Given the description of an element on the screen output the (x, y) to click on. 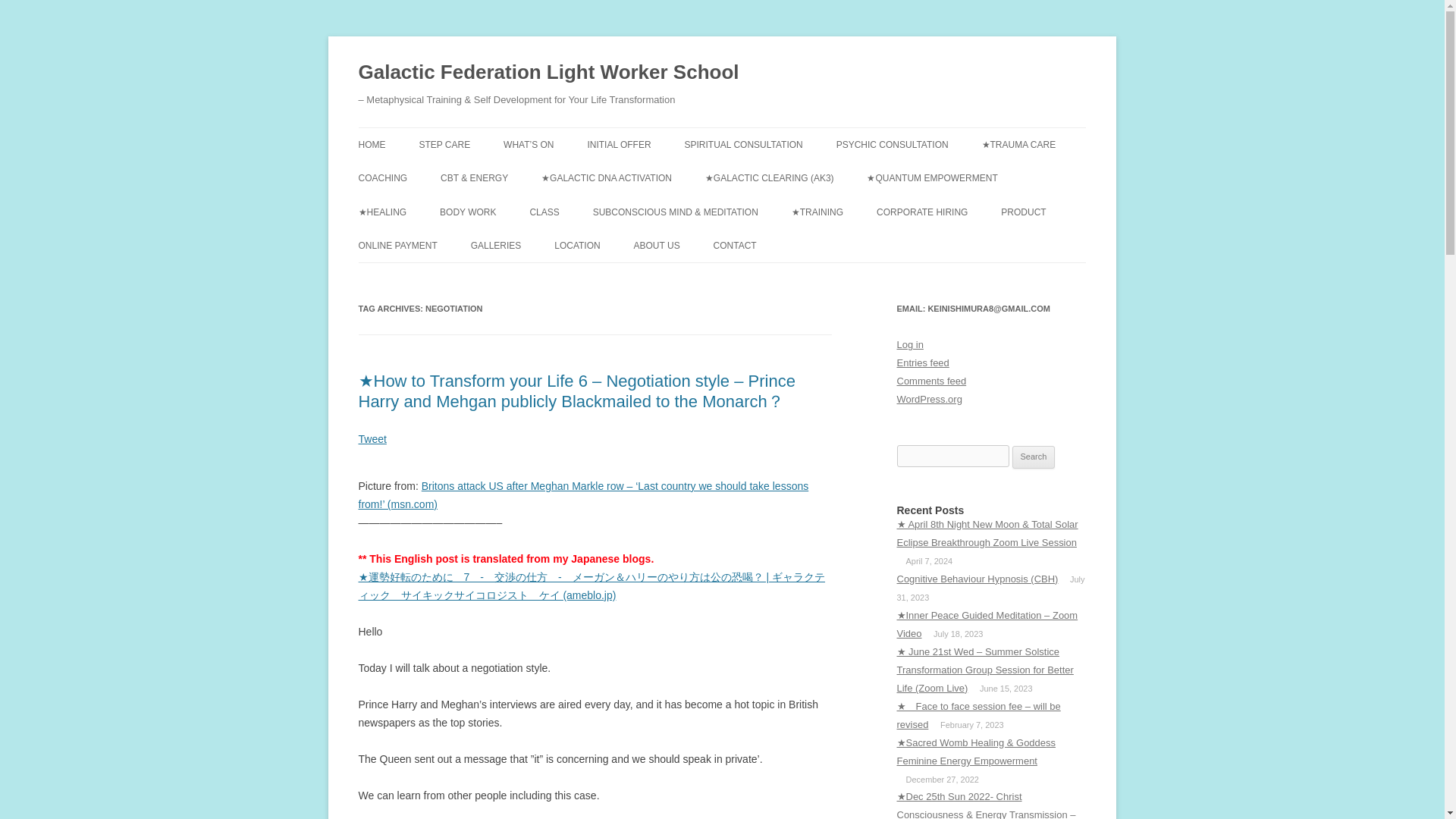
STEP CARE (444, 144)
SPIRITUAL CONSULTATION (743, 144)
INITIAL OFFER (618, 144)
COACHING (382, 177)
PSYCHIC CONSULTATION (892, 144)
Galactic Federation Light Worker School (548, 72)
Search (1033, 456)
